Given the description of an element on the screen output the (x, y) to click on. 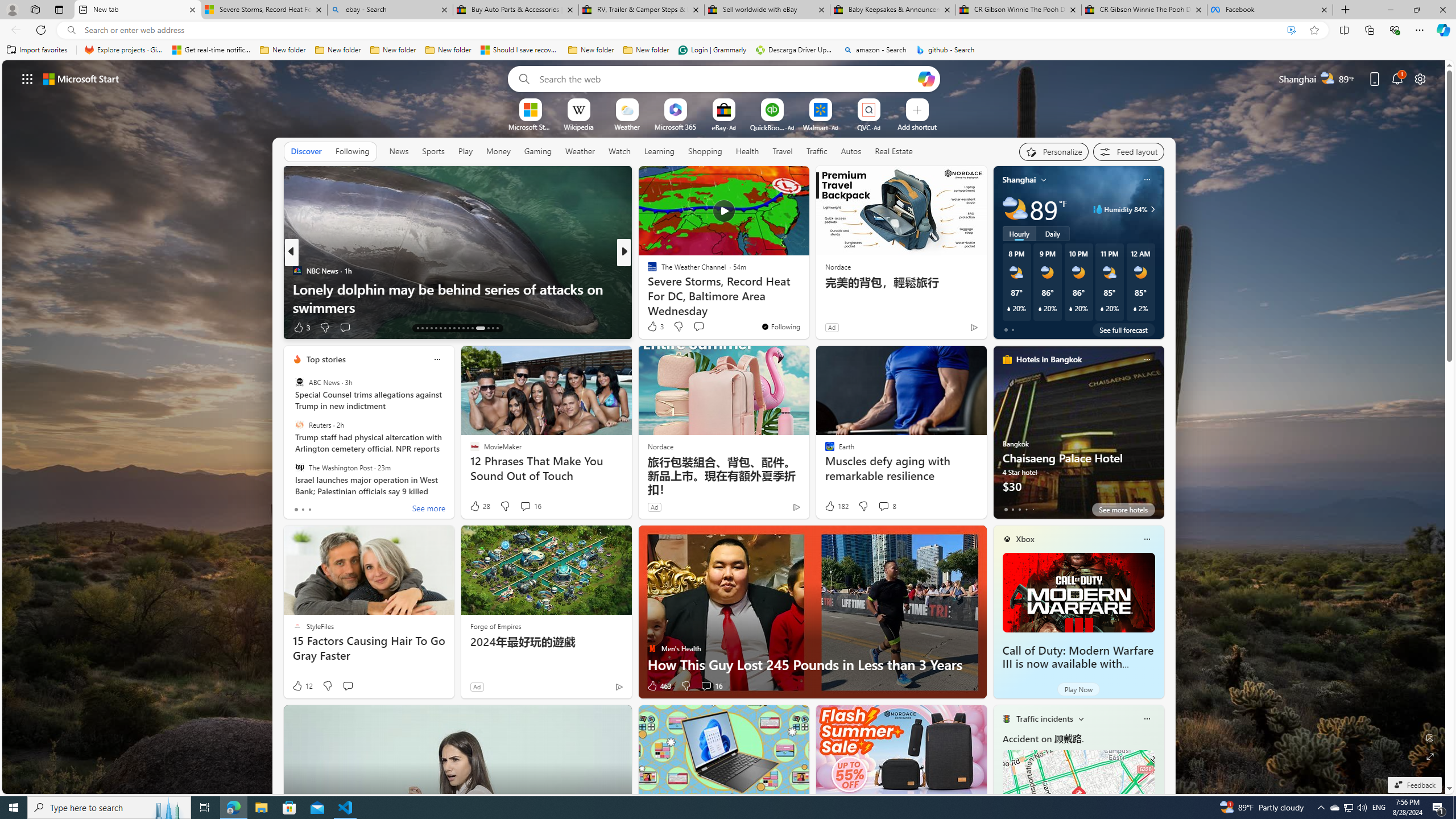
Real Estate (893, 151)
The Washington Post (299, 466)
View comments 167 Comment (6, 327)
Top stories (325, 359)
Traffic Title Traffic Light (1005, 718)
Traffic (816, 151)
Search icon (70, 29)
View comments 1 Comment (703, 327)
AutomationID: tab-29 (497, 328)
